Given the description of an element on the screen output the (x, y) to click on. 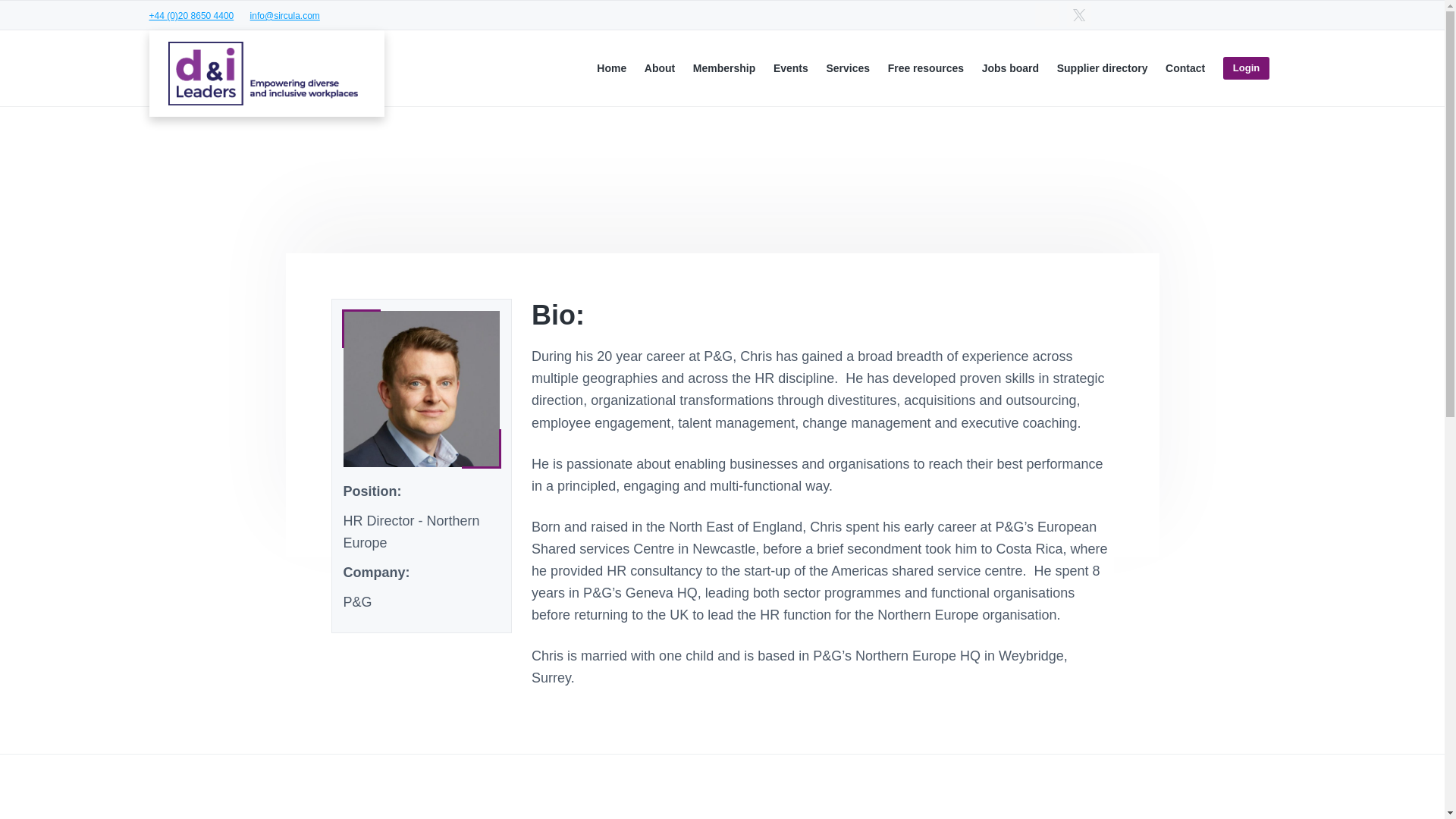
Membership (724, 67)
Home (611, 67)
Events (790, 67)
About (660, 67)
Contact (1185, 67)
Search (60, 18)
Free resources (925, 67)
Services (847, 67)
Supplier directory (1102, 67)
Chris Young photo (420, 388)
Login (1246, 68)
Jobs board (1010, 67)
